Given the description of an element on the screen output the (x, y) to click on. 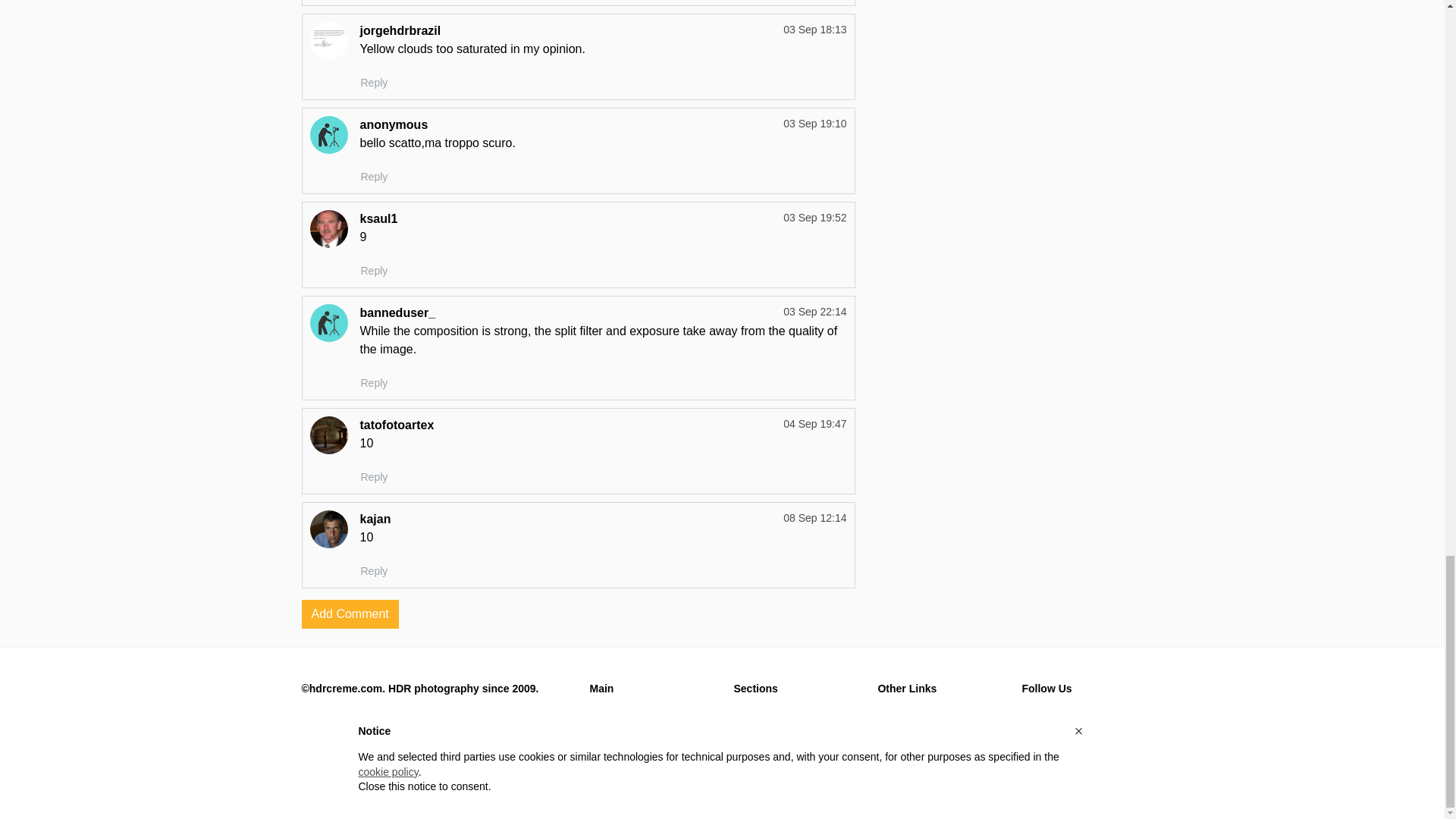
Reply (373, 82)
